Given the description of an element on the screen output the (x, y) to click on. 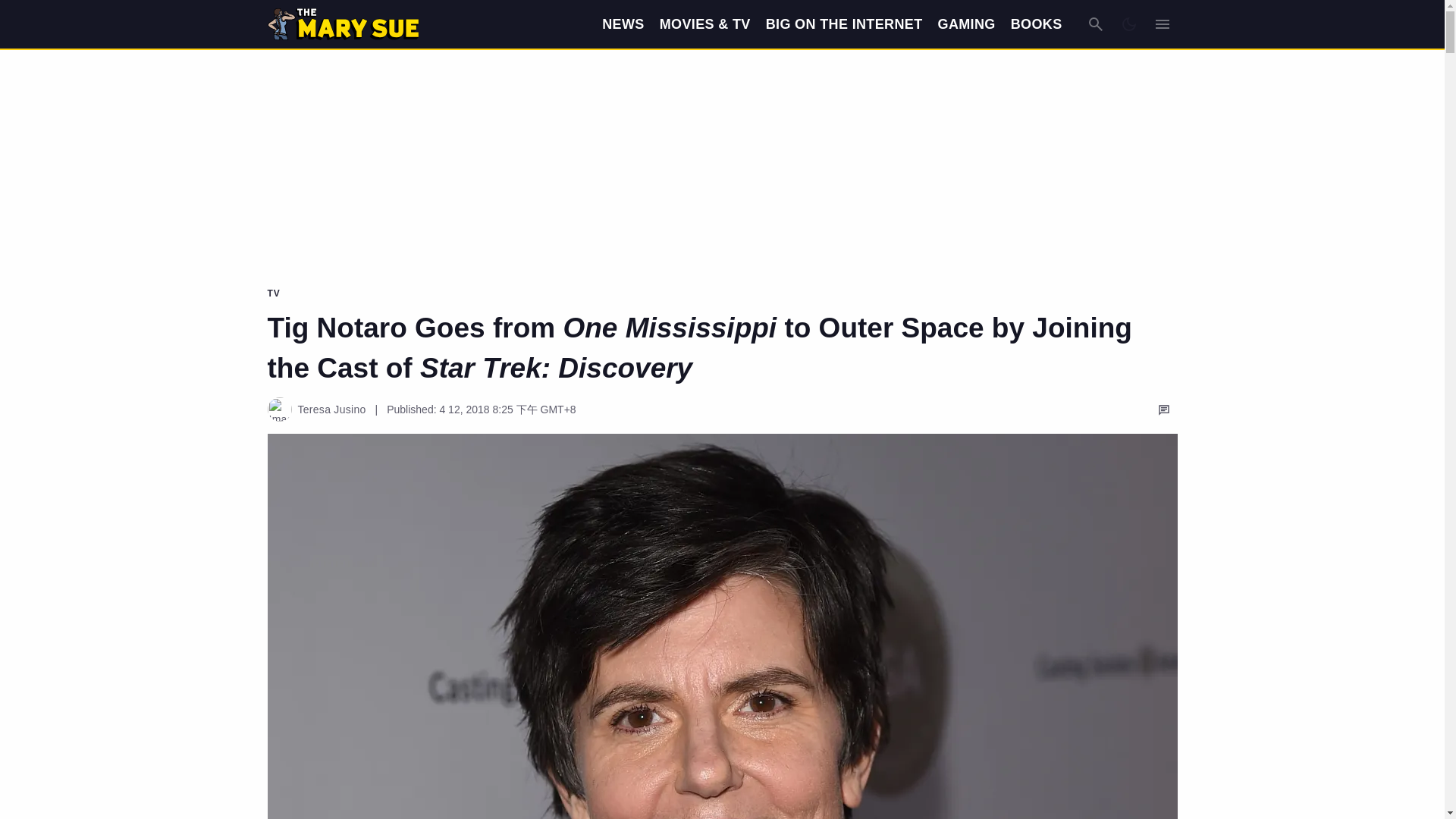
GAMING (966, 23)
BOOKS (1036, 23)
Dark Mode (1127, 24)
NEWS (622, 23)
Search (1094, 24)
BIG ON THE INTERNET (844, 23)
Expand Menu (1161, 24)
